Given the description of an element on the screen output the (x, y) to click on. 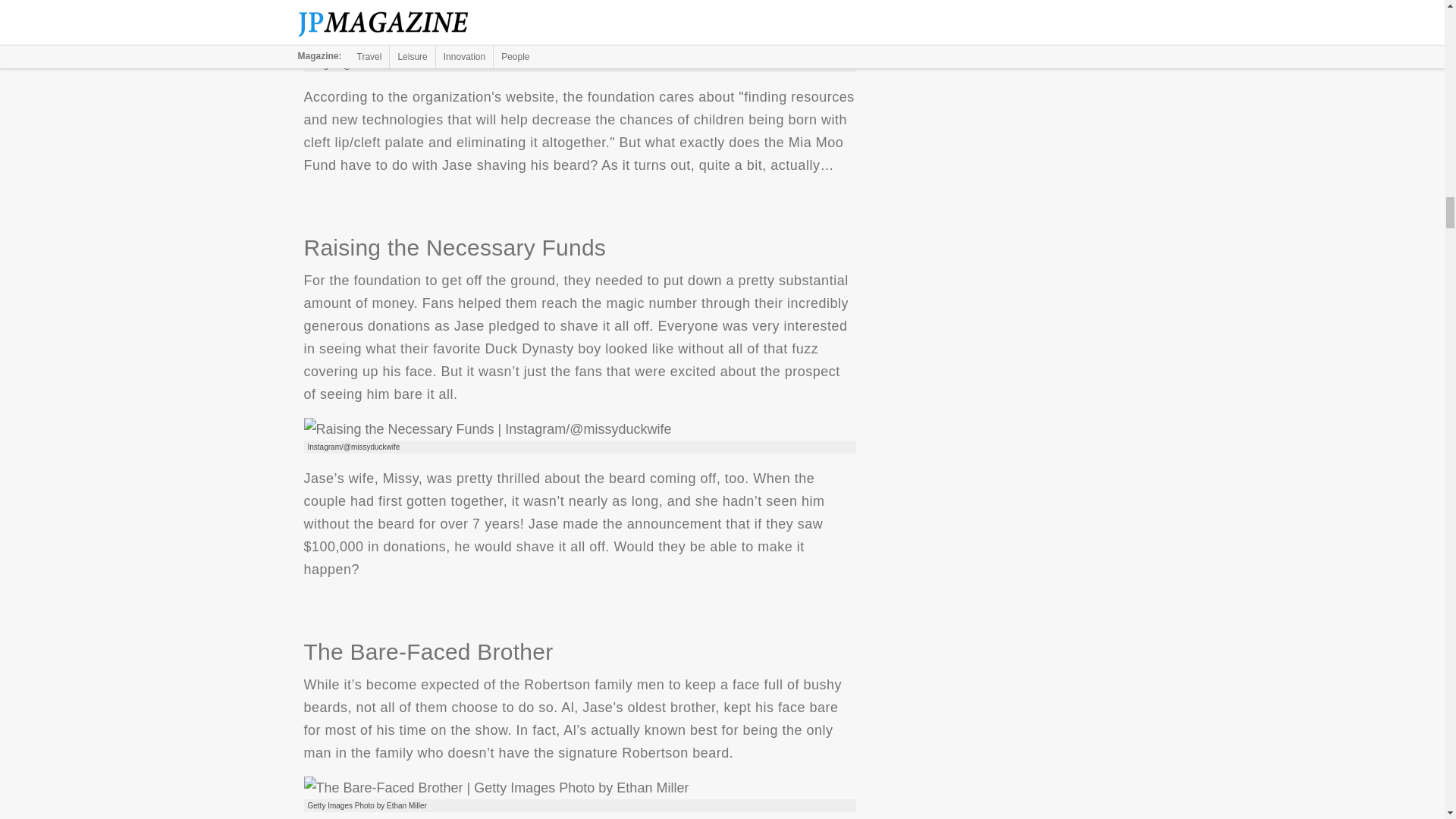
Raising the Necessary Funds (486, 428)
The Bare-Faced Brother (495, 787)
Mia Moo (417, 47)
